Given the description of an element on the screen output the (x, y) to click on. 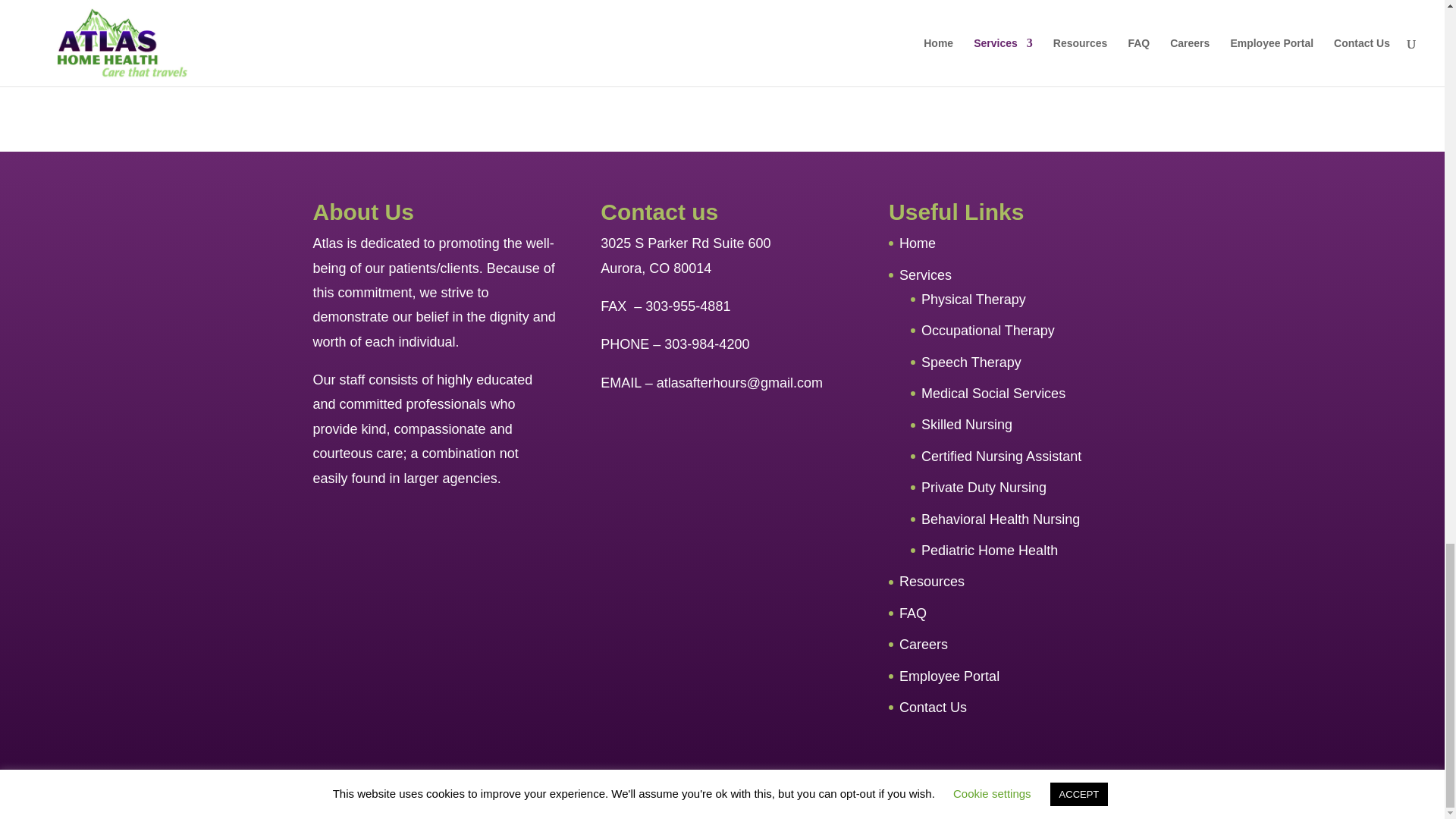
Home (917, 242)
Services (925, 274)
3025 S Parker Rd Suite 600 (684, 242)
Aurora, CO 80014 (655, 268)
303-984-4200 (706, 344)
